Given the description of an element on the screen output the (x, y) to click on. 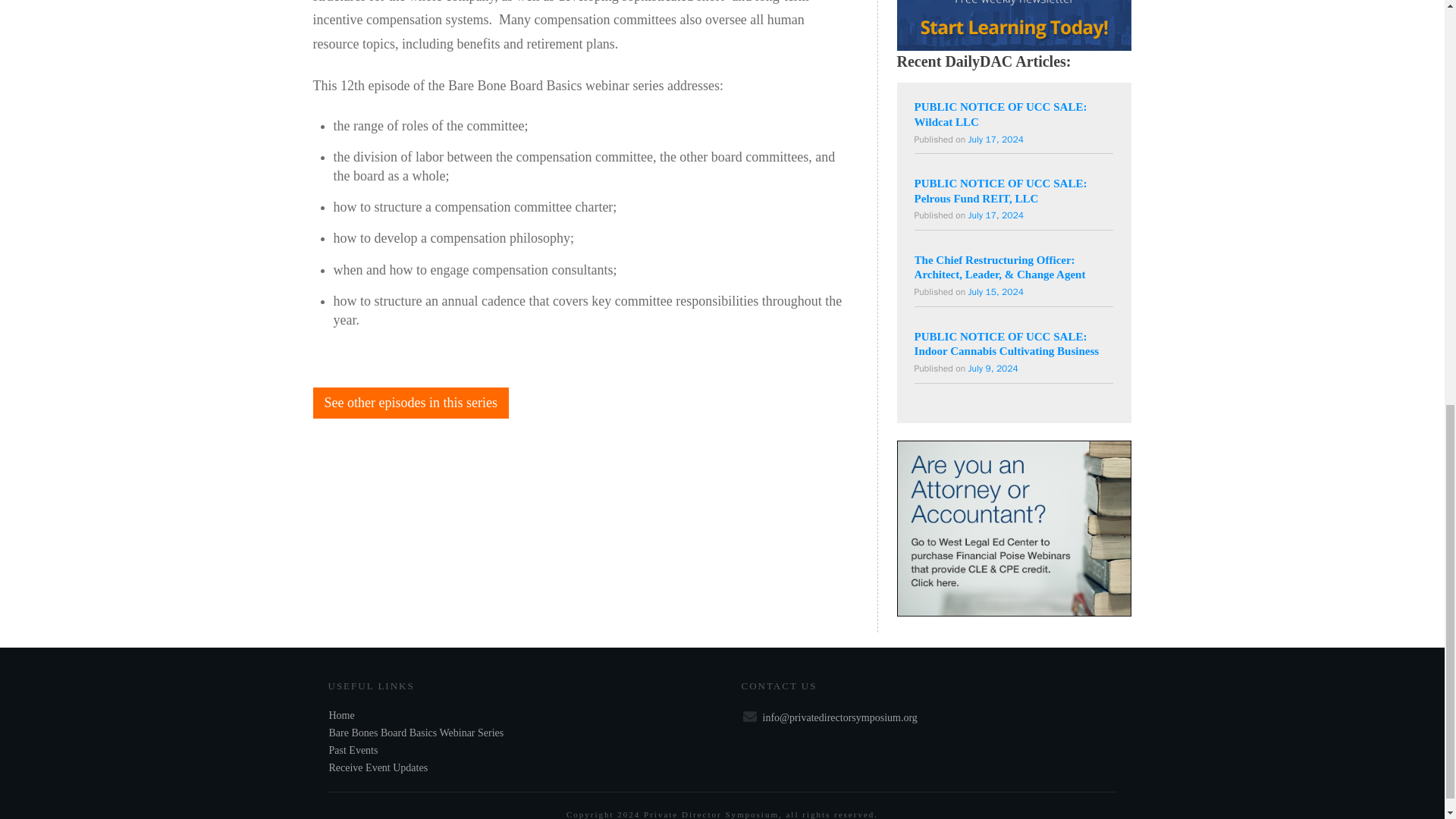
Past Events (353, 749)
July 17, 2024 (995, 215)
Bare Bones Board Basics Webinar Series  (417, 732)
PUBLIC NOTICE OF UCC SALE: Wildcat LLC (1001, 113)
PUBLIC NOTICE OF UCC SALE: Pelrous Fund REIT, LLC (995, 215)
Receive Event Updates (378, 767)
July 17, 2024 (995, 139)
See other episodes in this series (410, 403)
PUBLIC NOTICE OF UCC SALE: Pelrous Fund REIT, LLC (1002, 190)
July 15, 2024 (995, 291)
PUBLIC NOTICE OF UCC SALE: Pelrous Fund REIT, LLC (1002, 190)
Home (342, 715)
